Given the description of an element on the screen output the (x, y) to click on. 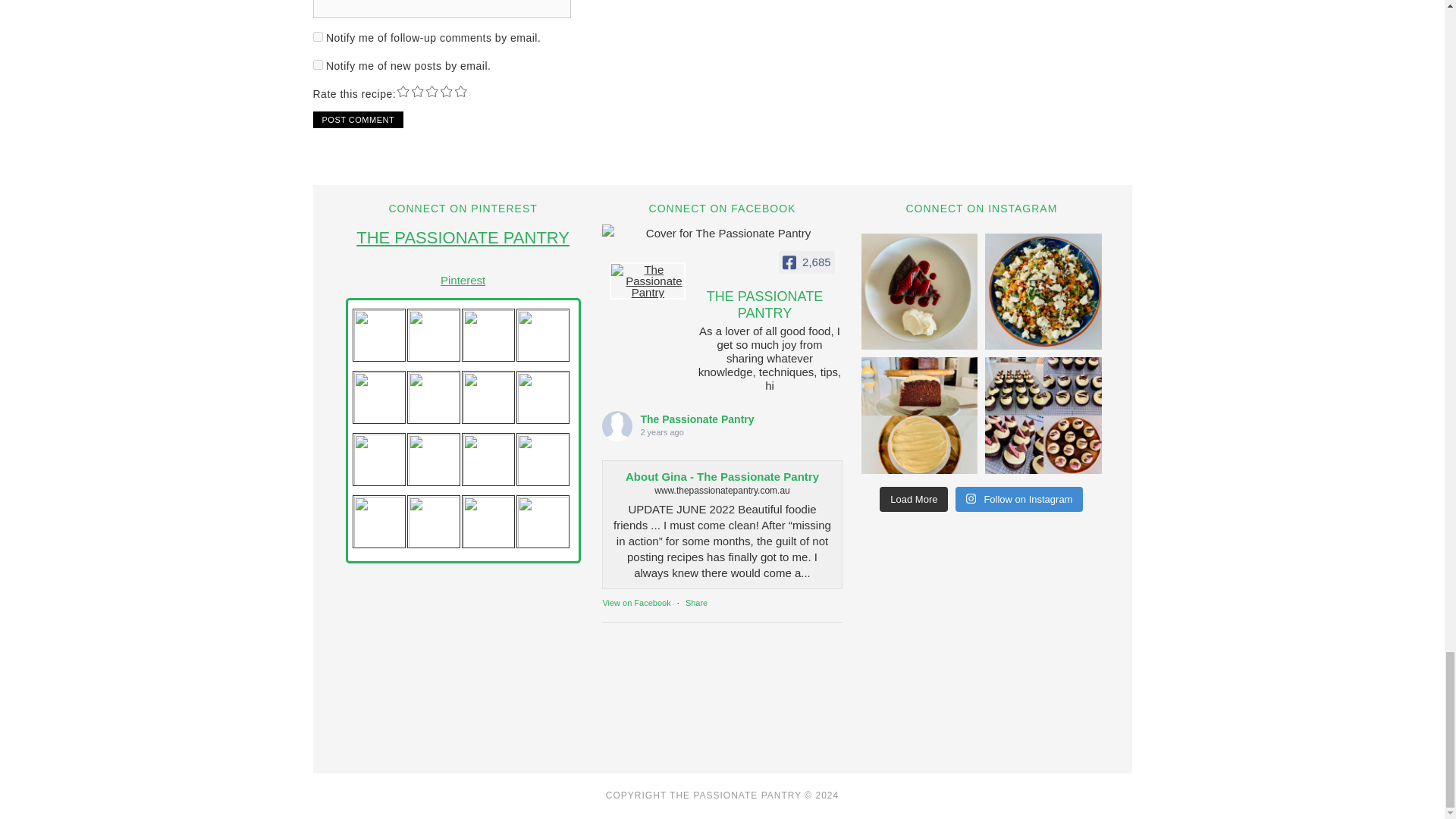
Post Comment (358, 119)
subscribe (317, 36)
subscribe (317, 64)
